Given the description of an element on the screen output the (x, y) to click on. 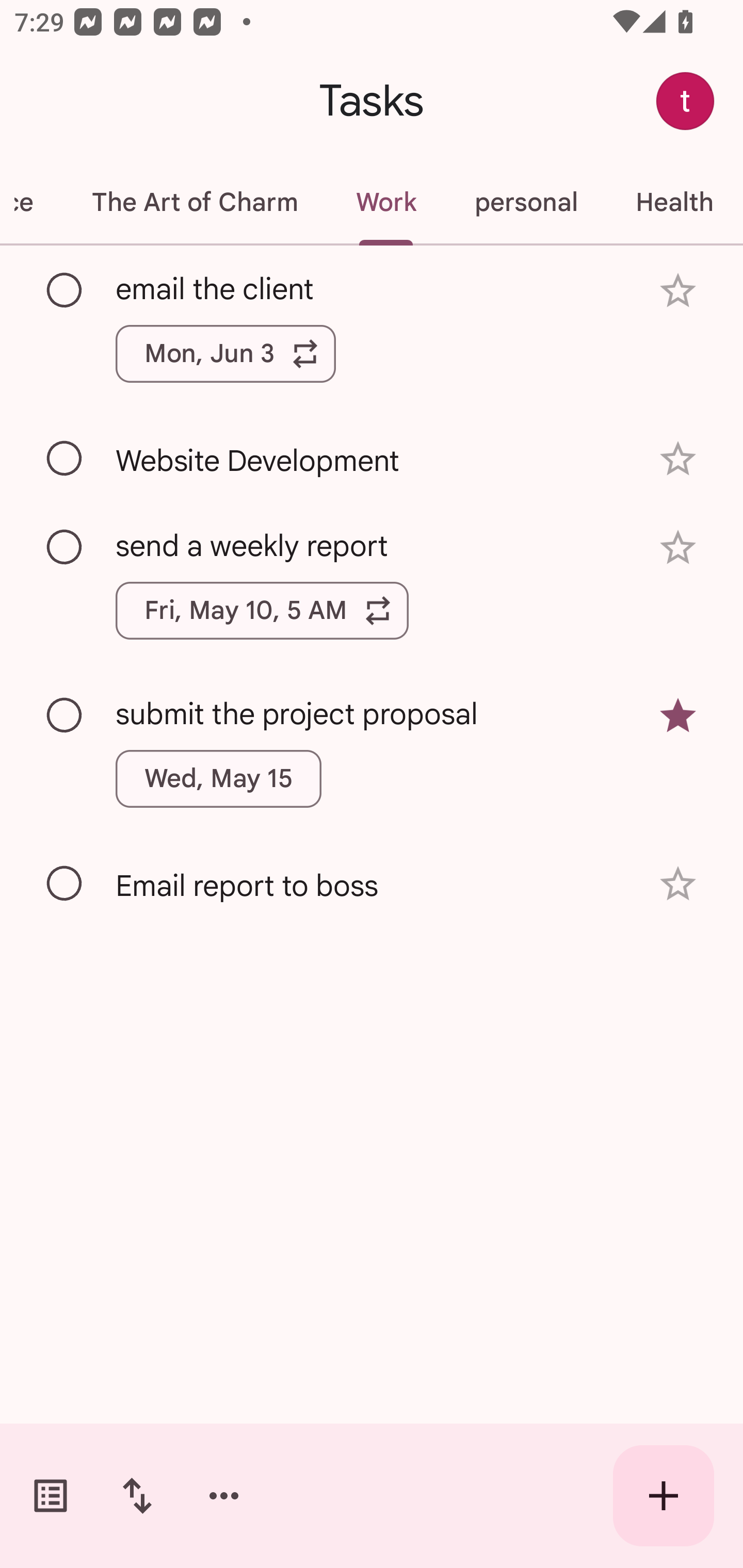
The Art of Charm (194, 202)
personal (525, 202)
Health (674, 202)
Add star (677, 290)
Mark as complete (64, 290)
Mon, Jun 3 (225, 353)
Add star (677, 458)
Mark as complete (64, 459)
Add star (677, 547)
Mark as complete (64, 547)
Fri, May 10, 5 AM (261, 610)
Remove star (677, 715)
Mark as complete (64, 715)
Wed, May 15 (218, 778)
Add star (677, 883)
Mark as complete (64, 884)
Switch task lists (50, 1495)
Create new task (663, 1495)
Change sort order (136, 1495)
More options (223, 1495)
